Given the description of an element on the screen output the (x, y) to click on. 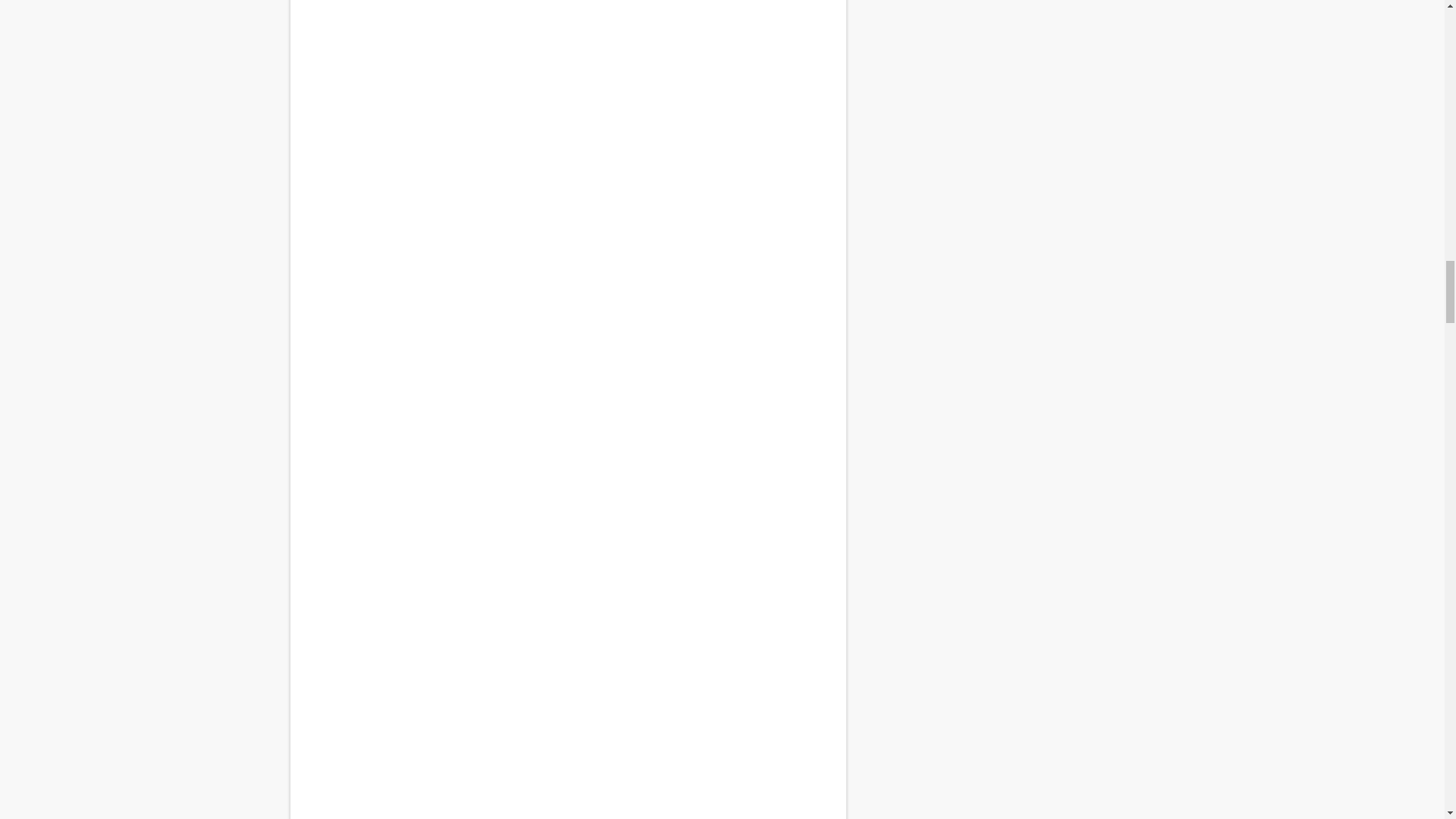
form of verbs (567, 277)
